Given the description of an element on the screen output the (x, y) to click on. 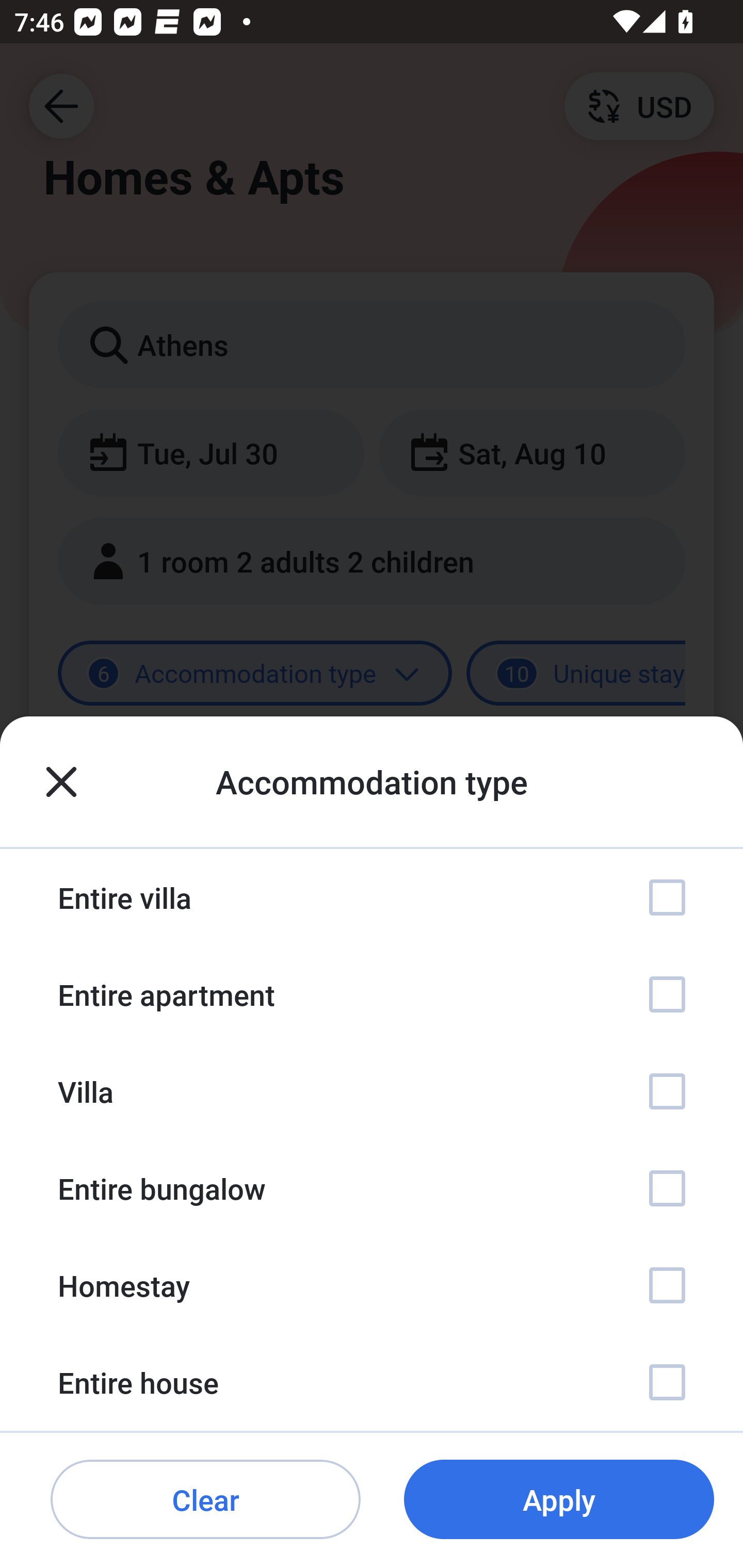
Entire villa (371, 897)
Entire apartment (371, 994)
Villa (371, 1091)
Entire bungalow (371, 1188)
Homestay (371, 1284)
Entire house (371, 1382)
Clear (205, 1499)
Apply (559, 1499)
